Given the description of an element on the screen output the (x, y) to click on. 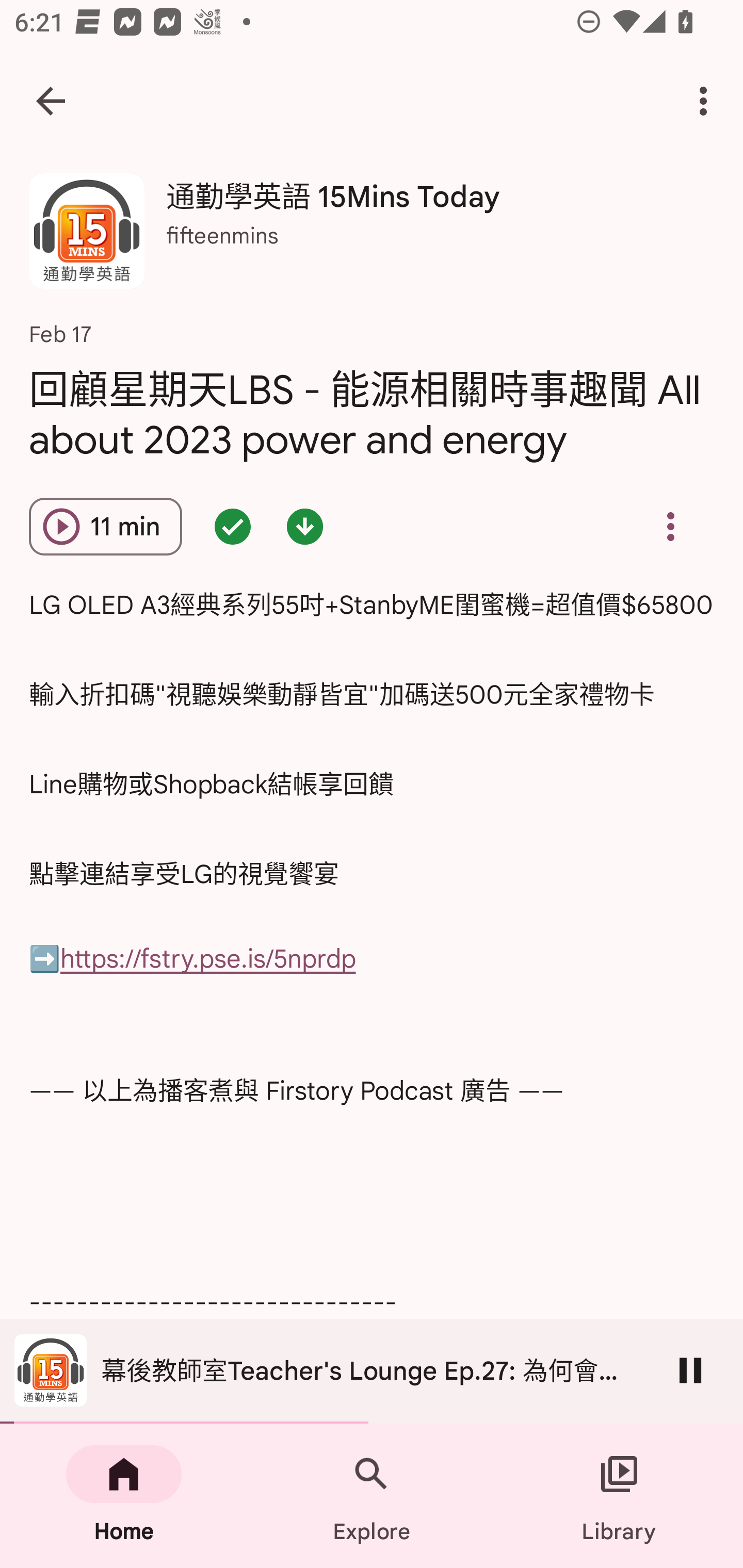
Navigate up (50, 101)
More options (706, 101)
通勤學英語 15Mins Today 通勤學英語 15Mins Today fifteenmins (371, 238)
Episode queued - double tap for options (232, 525)
Episode downloaded - double tap for options 0.0 (304, 525)
Overflow menu (670, 525)
Pause (690, 1370)
Explore (371, 1495)
Library (619, 1495)
